Given the description of an element on the screen output the (x, y) to click on. 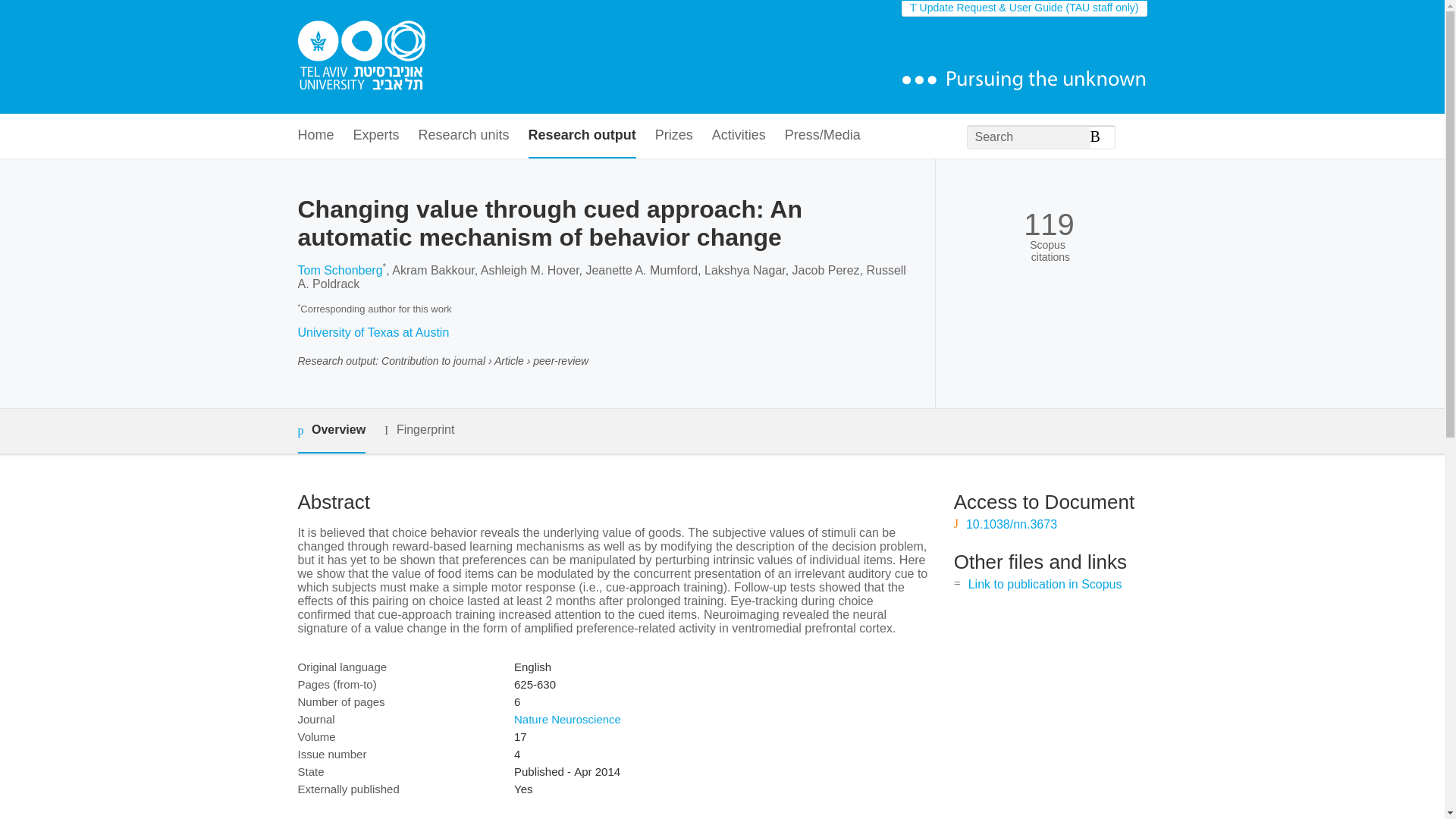
Research output (582, 135)
Overview (331, 430)
Research units (464, 135)
University of Texas at Austin (372, 332)
Fingerprint (419, 430)
Activities (738, 135)
Link to publication in Scopus (1045, 584)
Tom Schonberg (339, 269)
Nature Neuroscience (567, 718)
Tel Aviv University Home (361, 56)
Experts (375, 135)
